Given the description of an element on the screen output the (x, y) to click on. 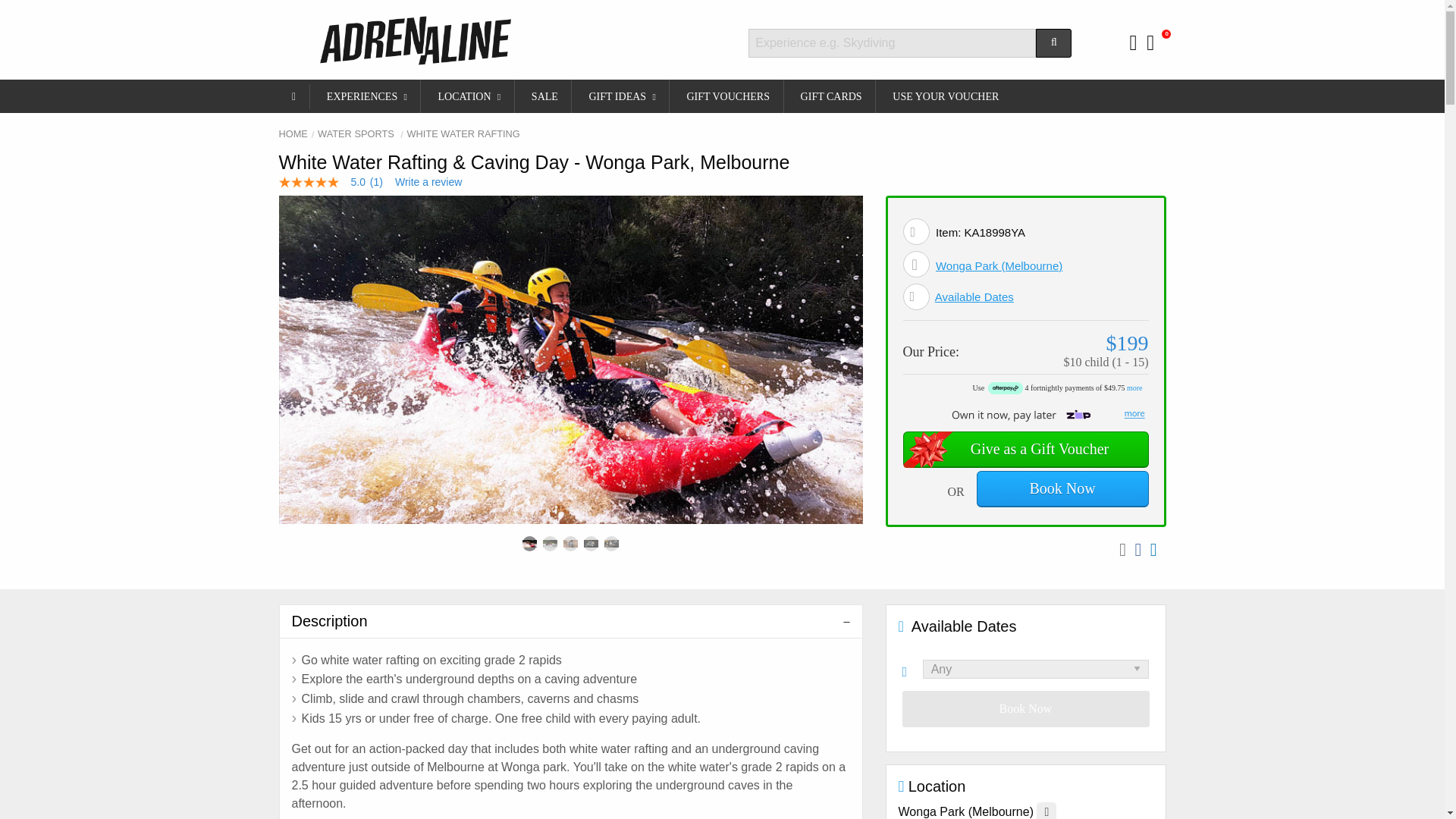
Dates (916, 296)
EXPERIENCES (366, 96)
SEARCH (1053, 42)
Prefered Time (912, 669)
Available Dates (973, 296)
Item Number (916, 231)
Book Now (1026, 709)
Give as a Gift Voucher (1025, 449)
Book Now (1062, 488)
Location (916, 263)
